Given the description of an element on the screen output the (x, y) to click on. 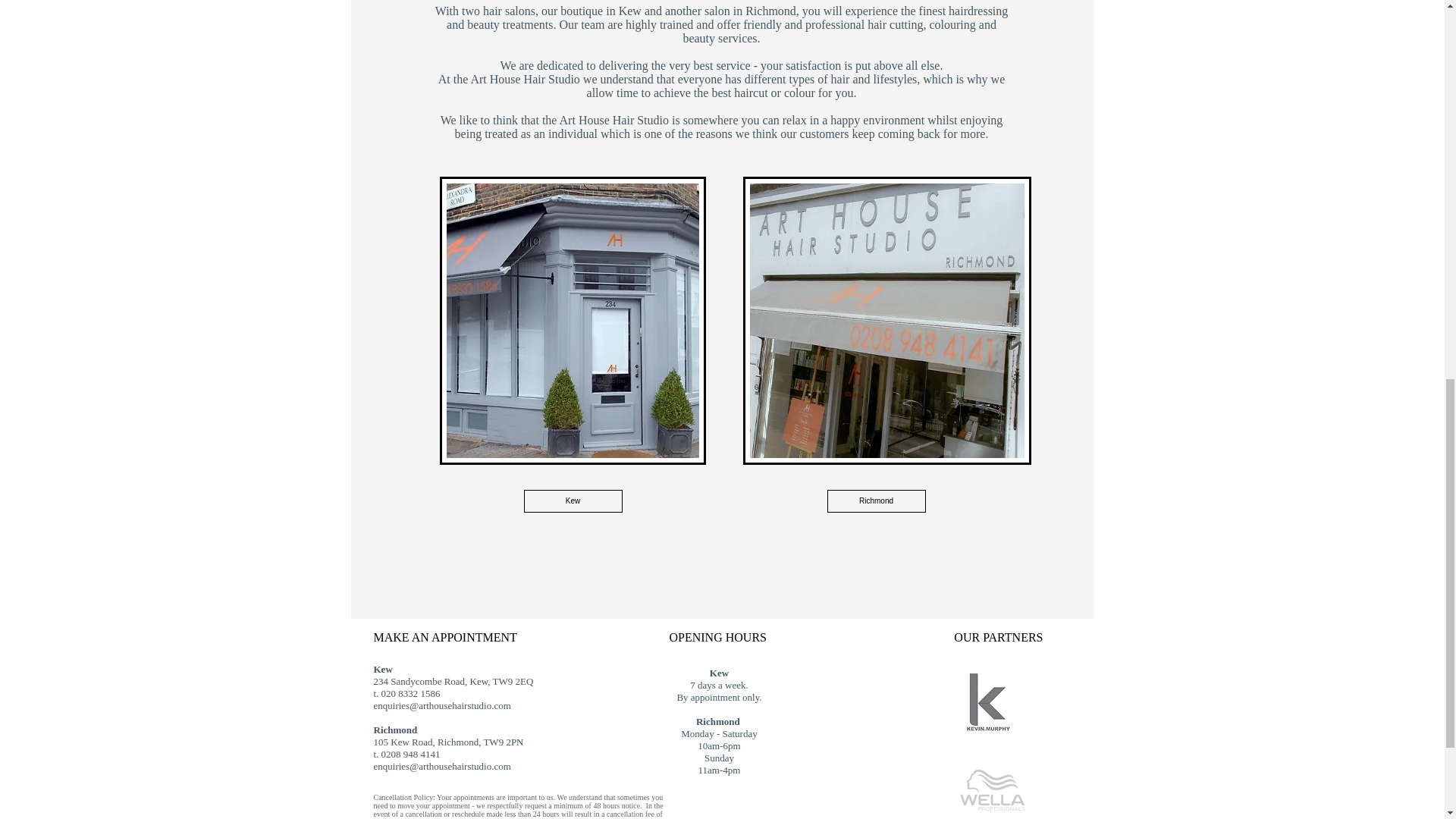
Kew (571, 500)
Kew Botique (572, 320)
Richmond (875, 500)
